Given the description of an element on the screen output the (x, y) to click on. 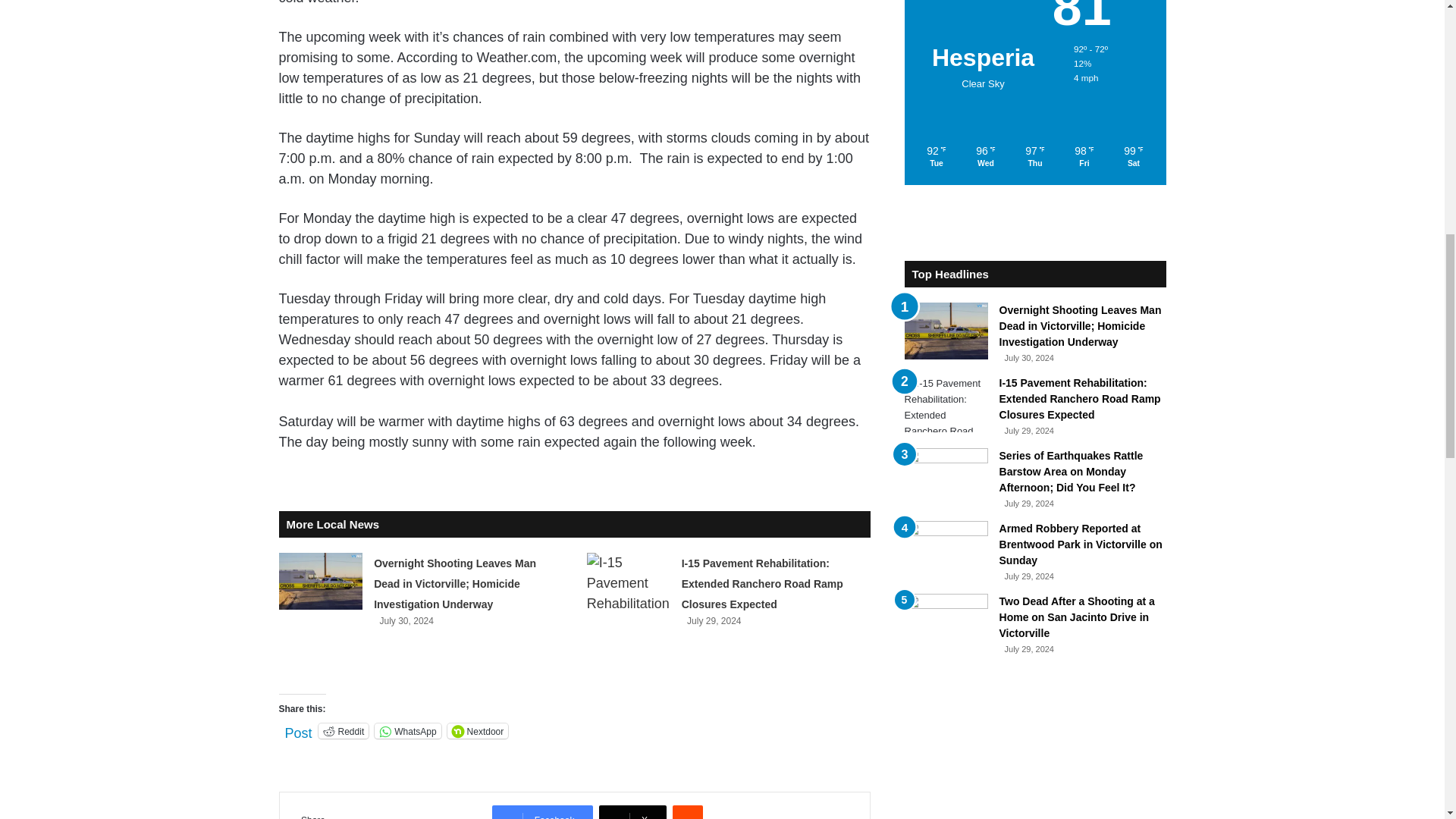
Post (299, 730)
WhatsApp (407, 730)
Reddit (343, 730)
Nextdoor (477, 730)
Click to share on Reddit (343, 730)
Click to share on Nextdoor (477, 730)
Click to share on WhatsApp (407, 730)
